Given the description of an element on the screen output the (x, y) to click on. 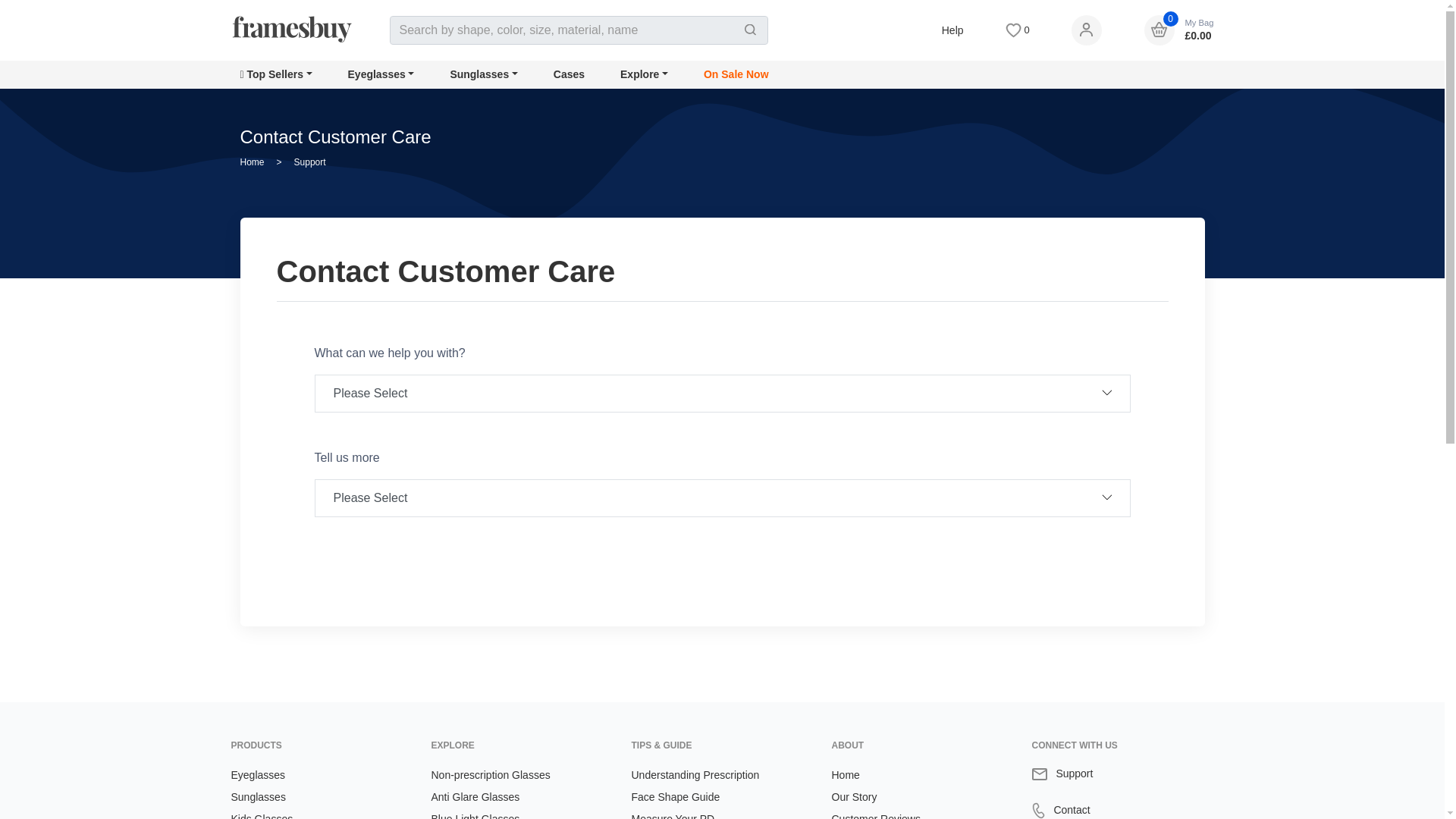
Help (952, 30)
Top Sellers (275, 74)
0 (1017, 30)
Sunglasses (482, 74)
Cases (569, 74)
Eyeglasses (380, 74)
